Given the description of an element on the screen output the (x, y) to click on. 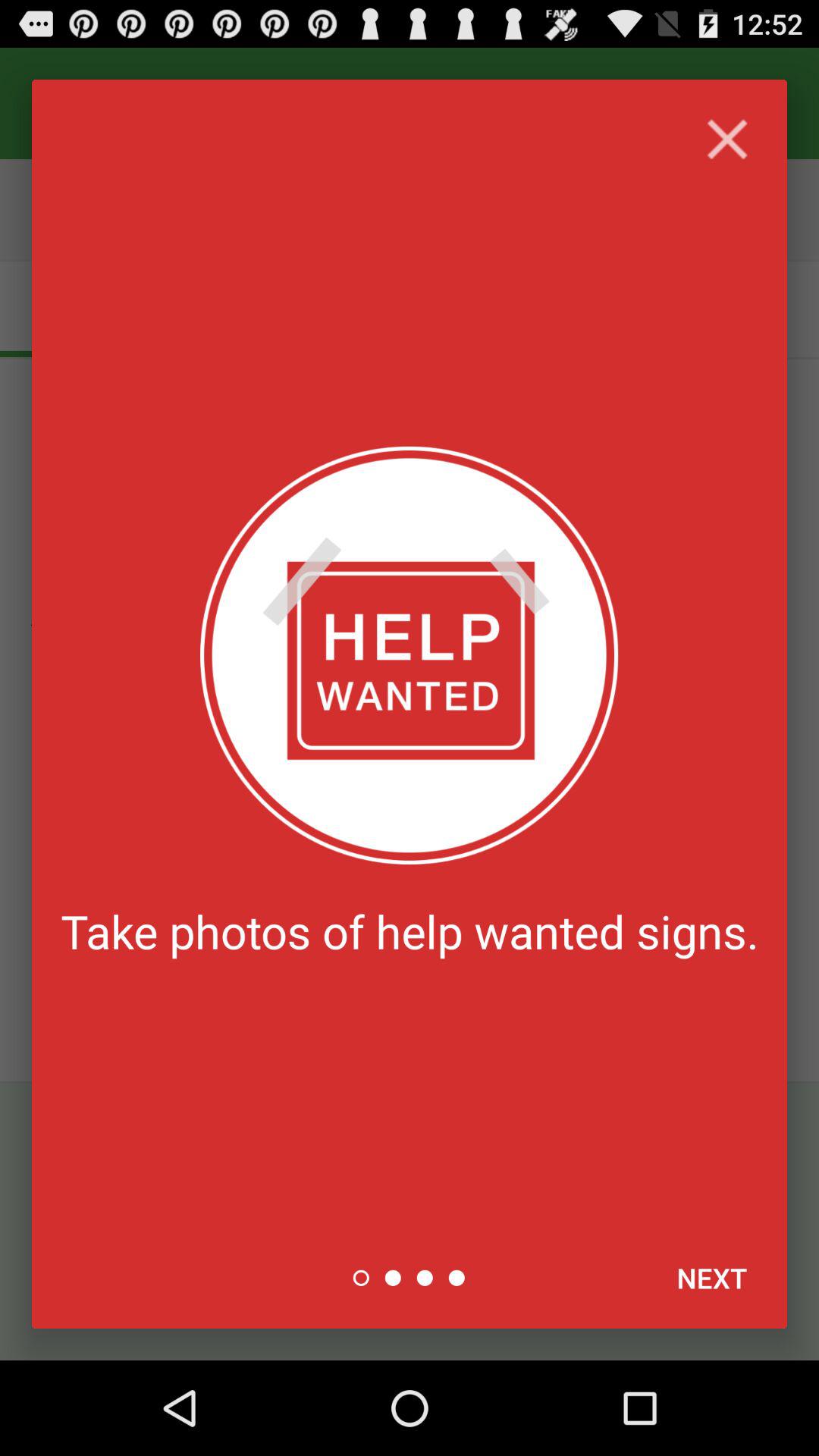
select the icon below take photos of icon (711, 1277)
